Given the description of an element on the screen output the (x, y) to click on. 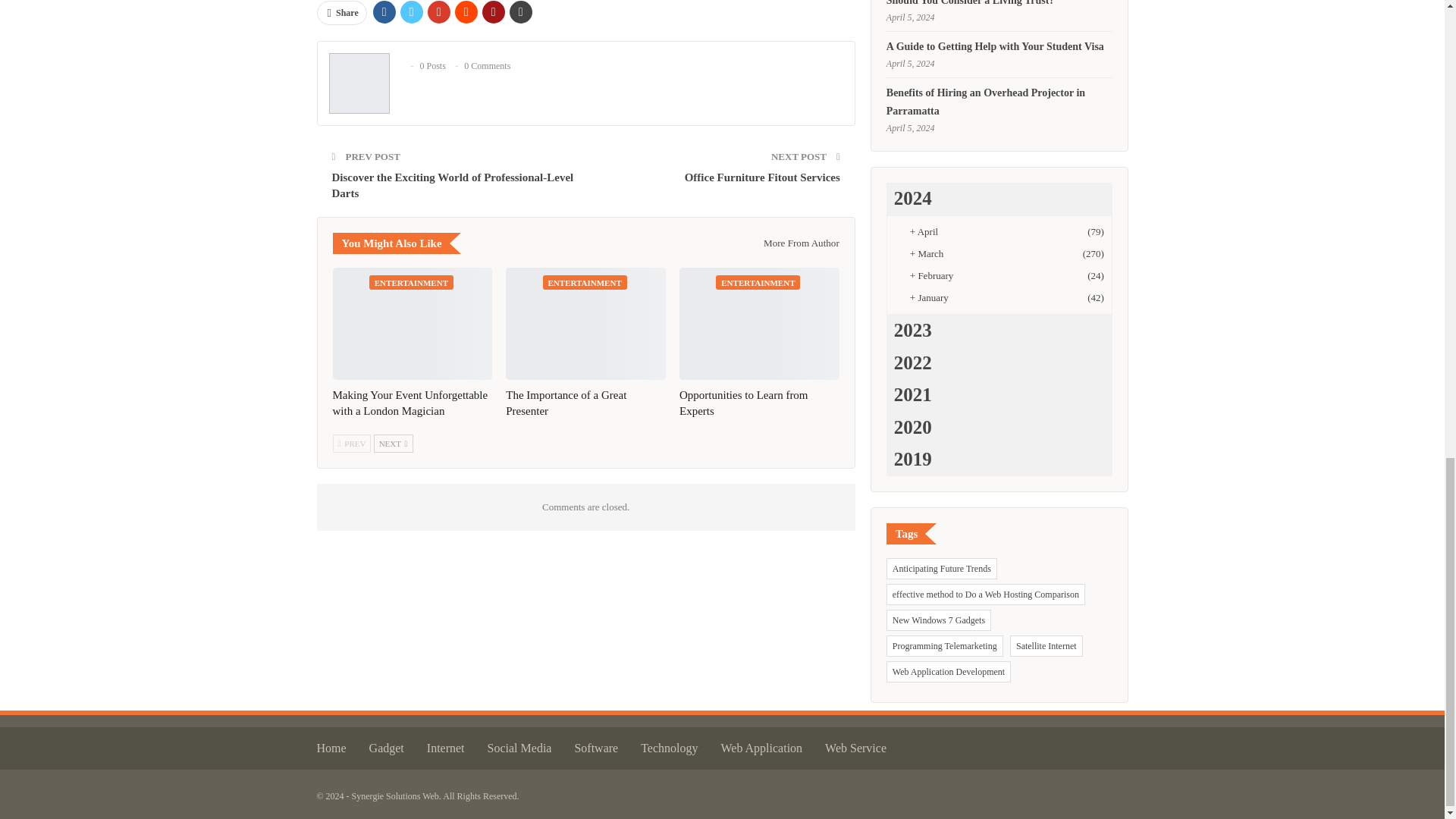
Making Your Event Unforgettable with a London Magician (411, 323)
Opportunities to Learn from Experts (759, 323)
The Importance of a Great Presenter (565, 402)
Opportunities to Learn from Experts (743, 402)
Previous (351, 443)
Making Your Event Unforgettable with a London Magician (409, 402)
Next (393, 443)
The Importance of a Great Presenter (585, 323)
